Given the description of an element on the screen output the (x, y) to click on. 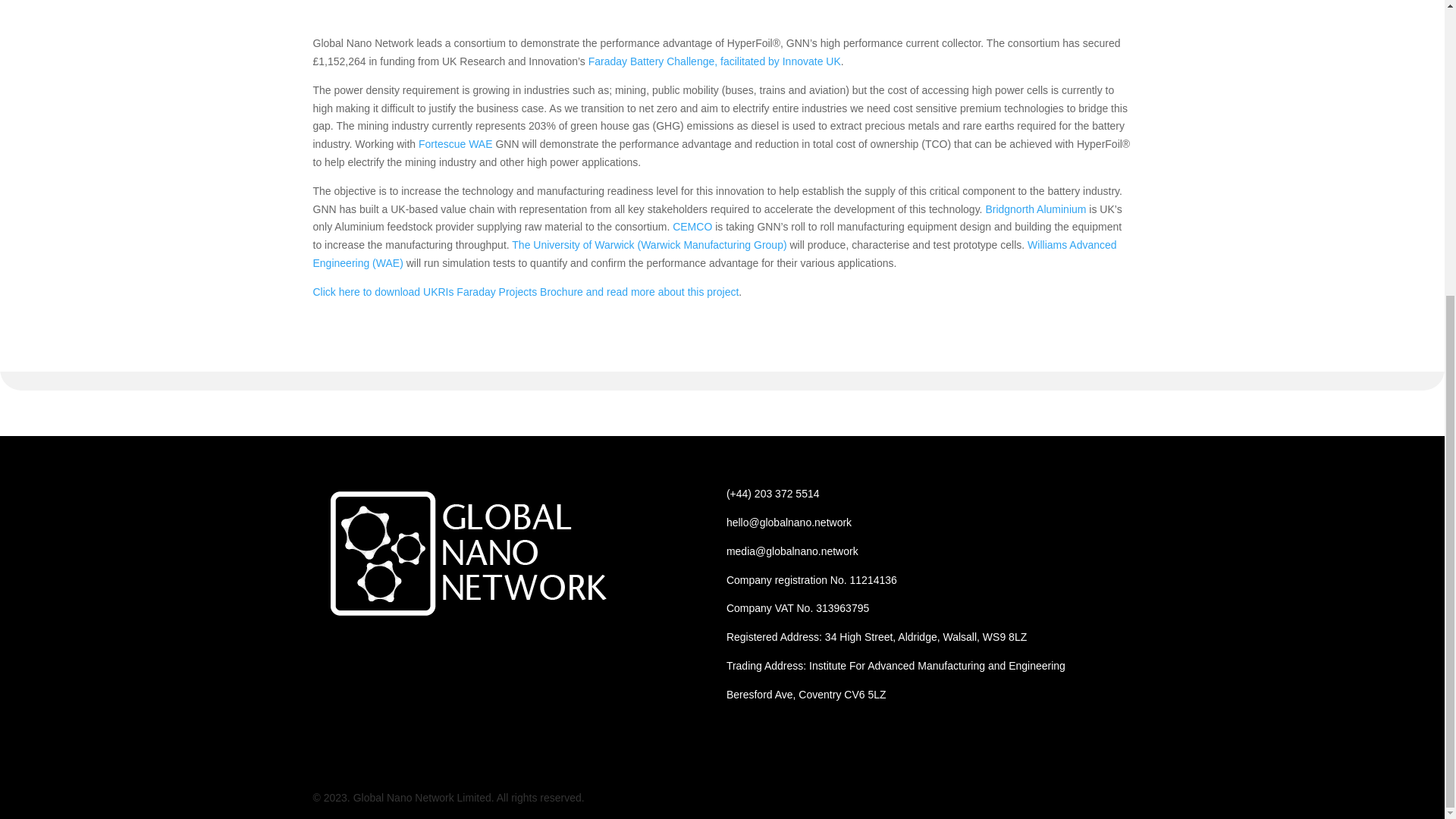
Fortescue WAE (457, 143)
Faraday Battery Challenge, facilitated by Innovate UK (714, 61)
CEMCO (693, 226)
Bridgnorth Aluminium (1037, 209)
